Given the description of an element on the screen output the (x, y) to click on. 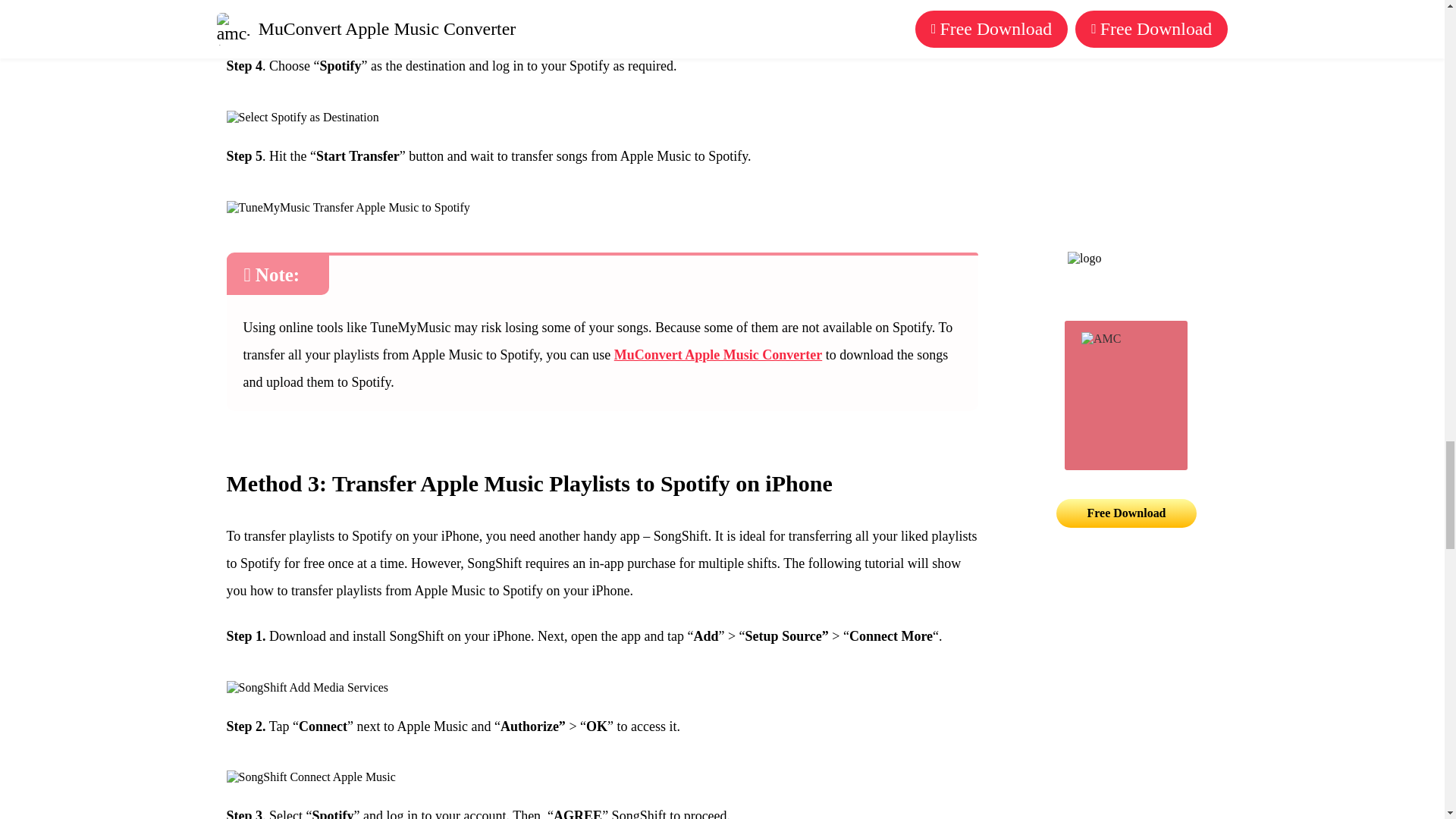
MuConvert Apple Music Converter (718, 354)
